Given the description of an element on the screen output the (x, y) to click on. 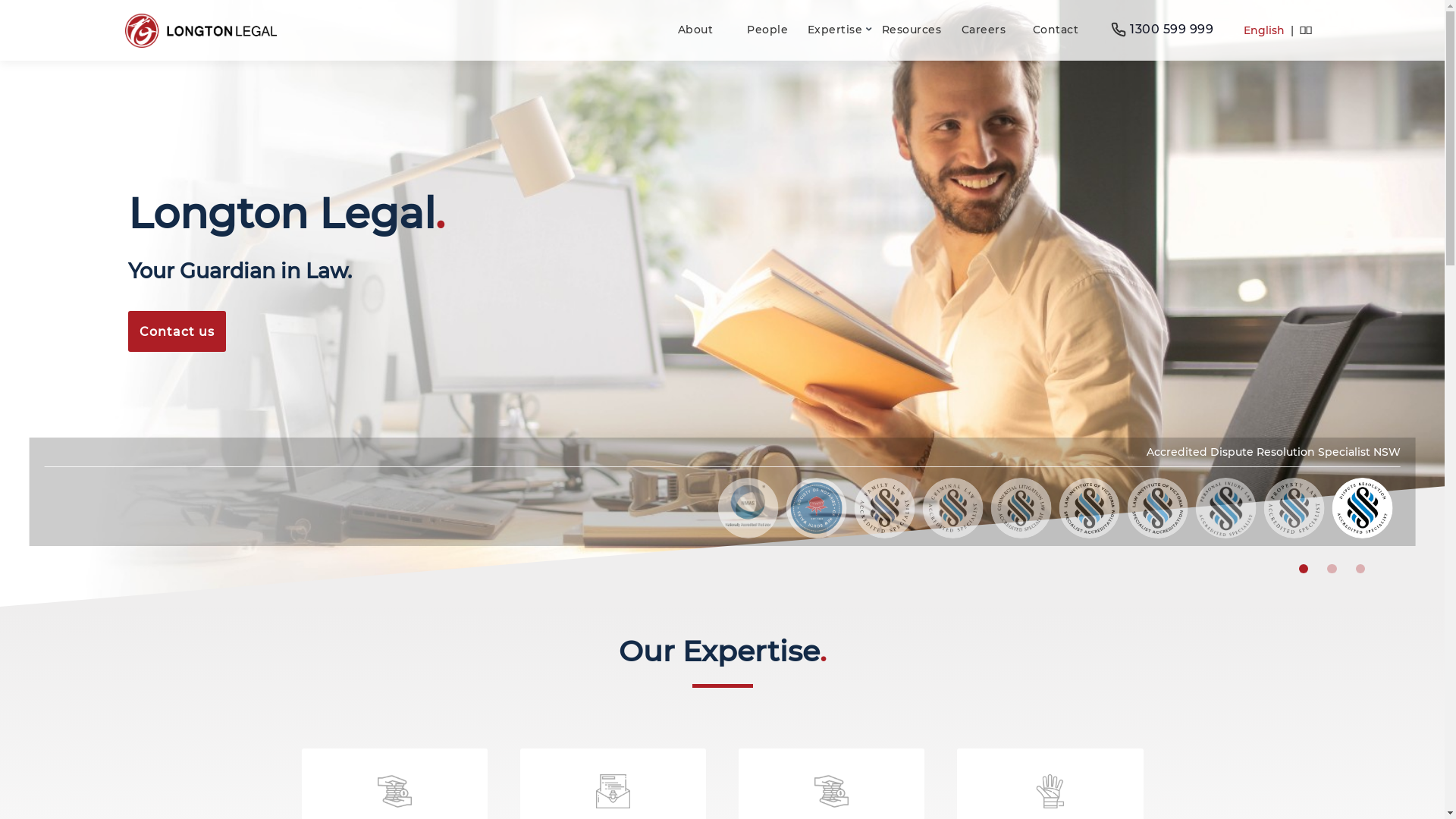
People Element type: text (767, 30)
Careers Element type: text (982, 30)
Contact us Element type: text (176, 330)
Accredited Personal Injury Law Specialist NSW	 Element type: hover (1225, 507)
English Element type: text (1263, 30)
About Element type: text (694, 30)
Accredited Criminal Law Specialist VIC Element type: hover (1089, 507)
Accredited Family Law Specialist NSW Element type: hover (884, 507)
Expertise Element type: text (838, 30)
Accredited Dispute Resolution Specialist NSW Element type: hover (1362, 507)
Accredited Personal Injury Law Specialist VIC Element type: hover (1157, 507)
Public Notary Element type: hover (816, 507)
Nationally Accredited Mediator Element type: hover (748, 507)
Contact Element type: text (1055, 30)
Resources Element type: text (911, 30)
Accredited Criminal Law Specialist NSW Element type: hover (952, 507)
Accredited Commercial Litigation Specialist NSW Element type: hover (1021, 507)
1300 599 999 Element type: text (1161, 30)
Accredited Property Law Specialist NSW	 Element type: hover (1294, 507)
